Given the description of an element on the screen output the (x, y) to click on. 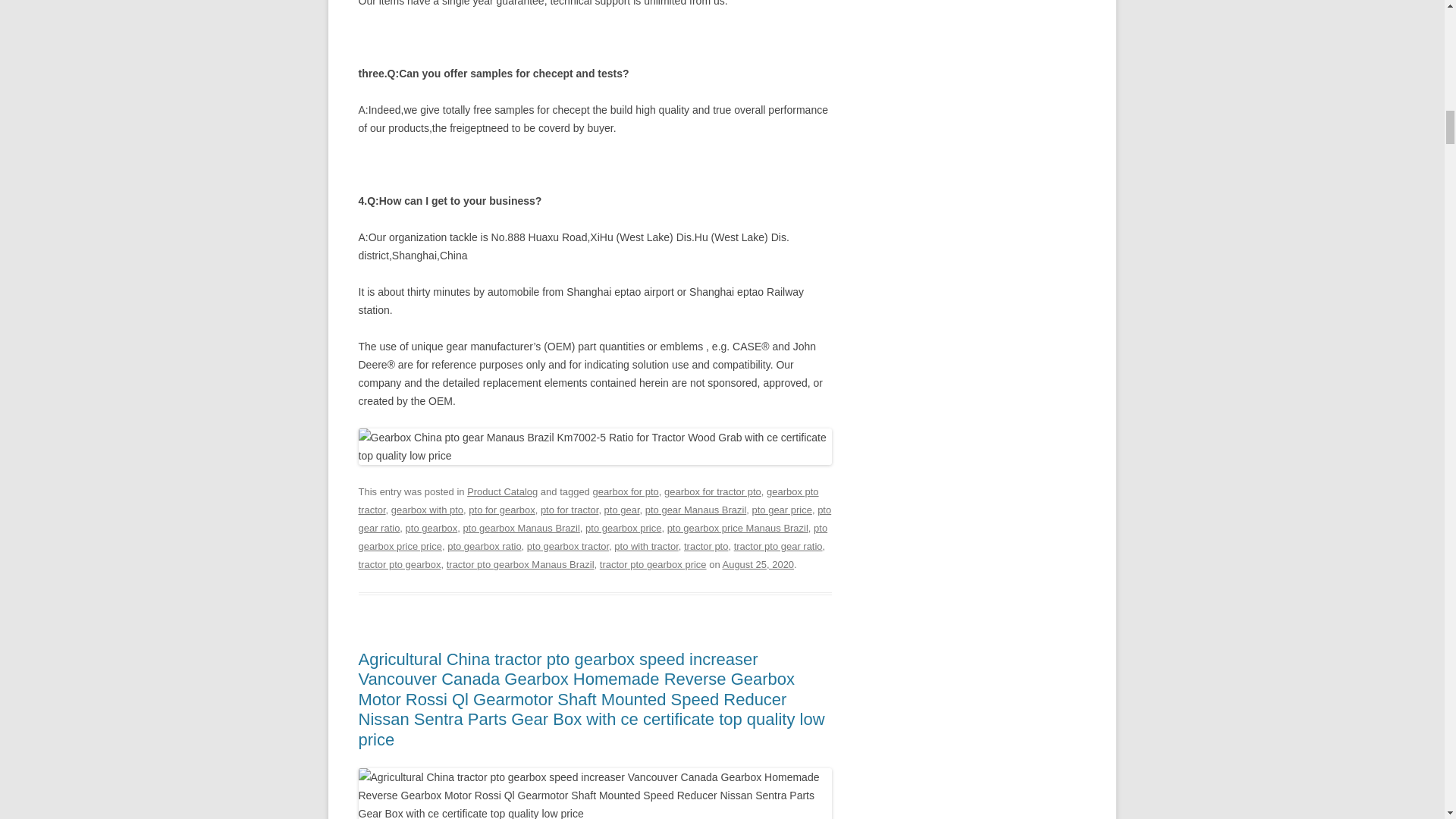
7:27 am (758, 564)
gearbox for pto (625, 491)
pto gear Manaus Brazil (695, 509)
gearbox for tractor pto (712, 491)
pto for tractor (569, 509)
pto gear (622, 509)
gearbox pto tractor (588, 500)
pto for gearbox (501, 509)
Product Catalog (502, 491)
gearbox with pto (427, 509)
